Given the description of an element on the screen output the (x, y) to click on. 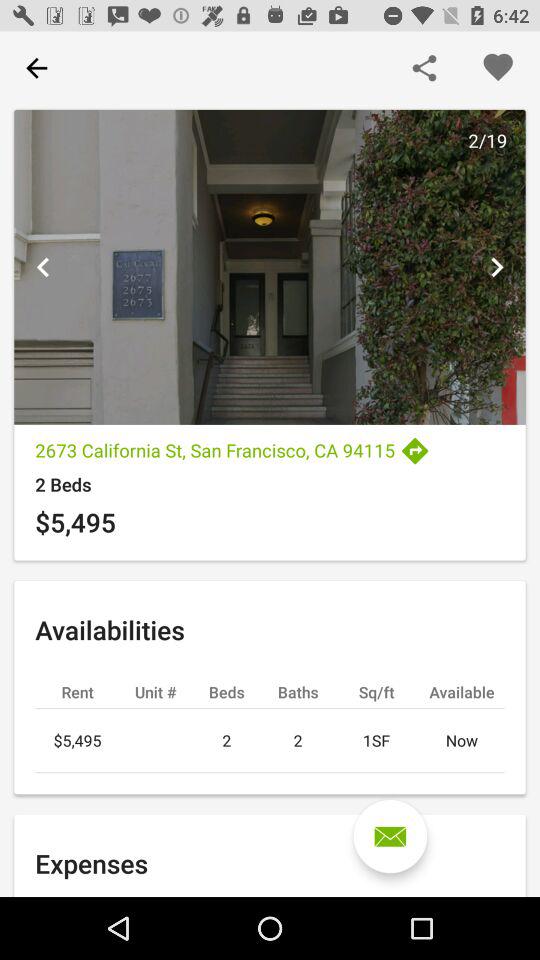
next picture (496, 267)
